Given the description of an element on the screen output the (x, y) to click on. 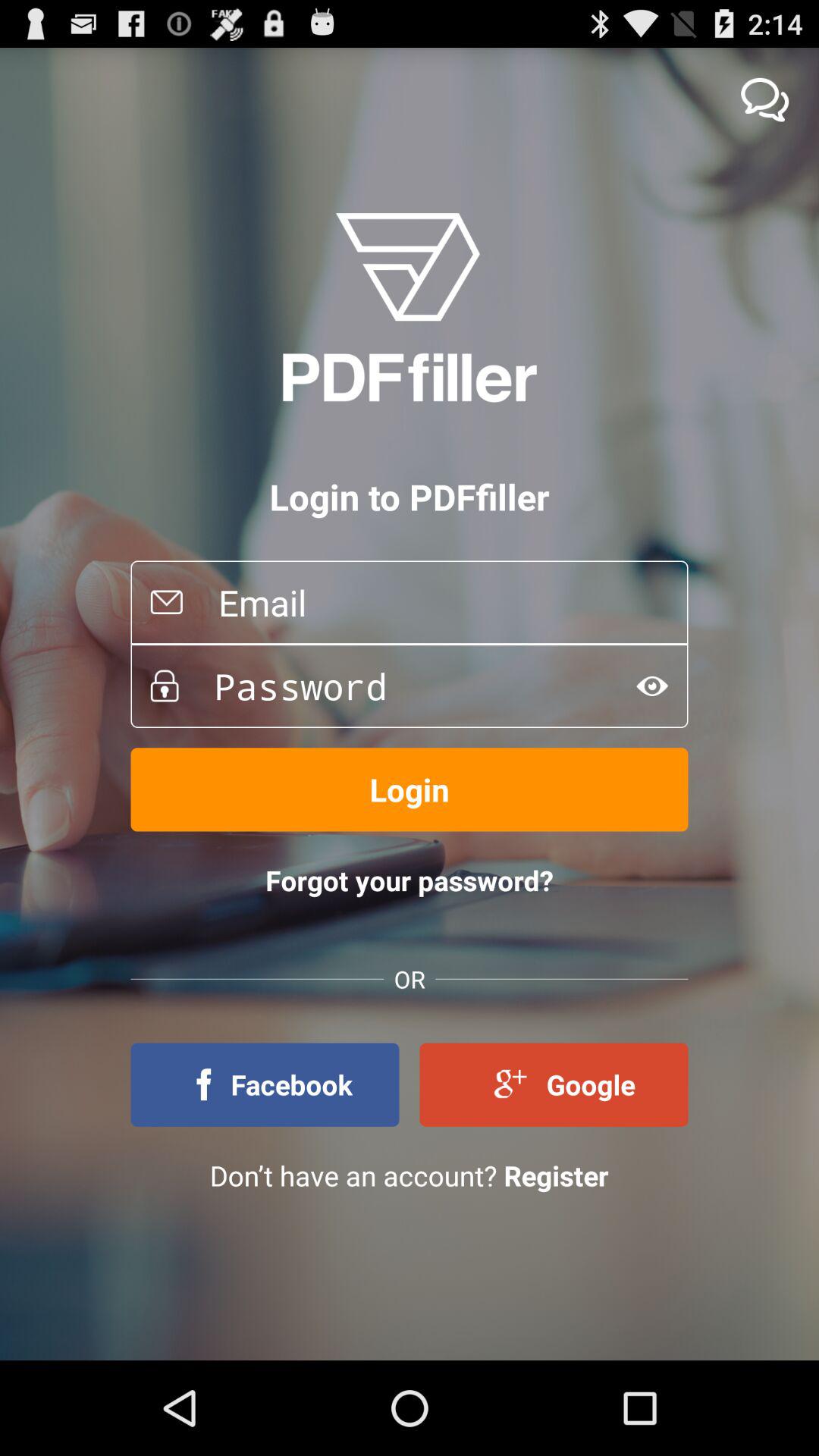
write your email address (435, 602)
